Given the description of an element on the screen output the (x, y) to click on. 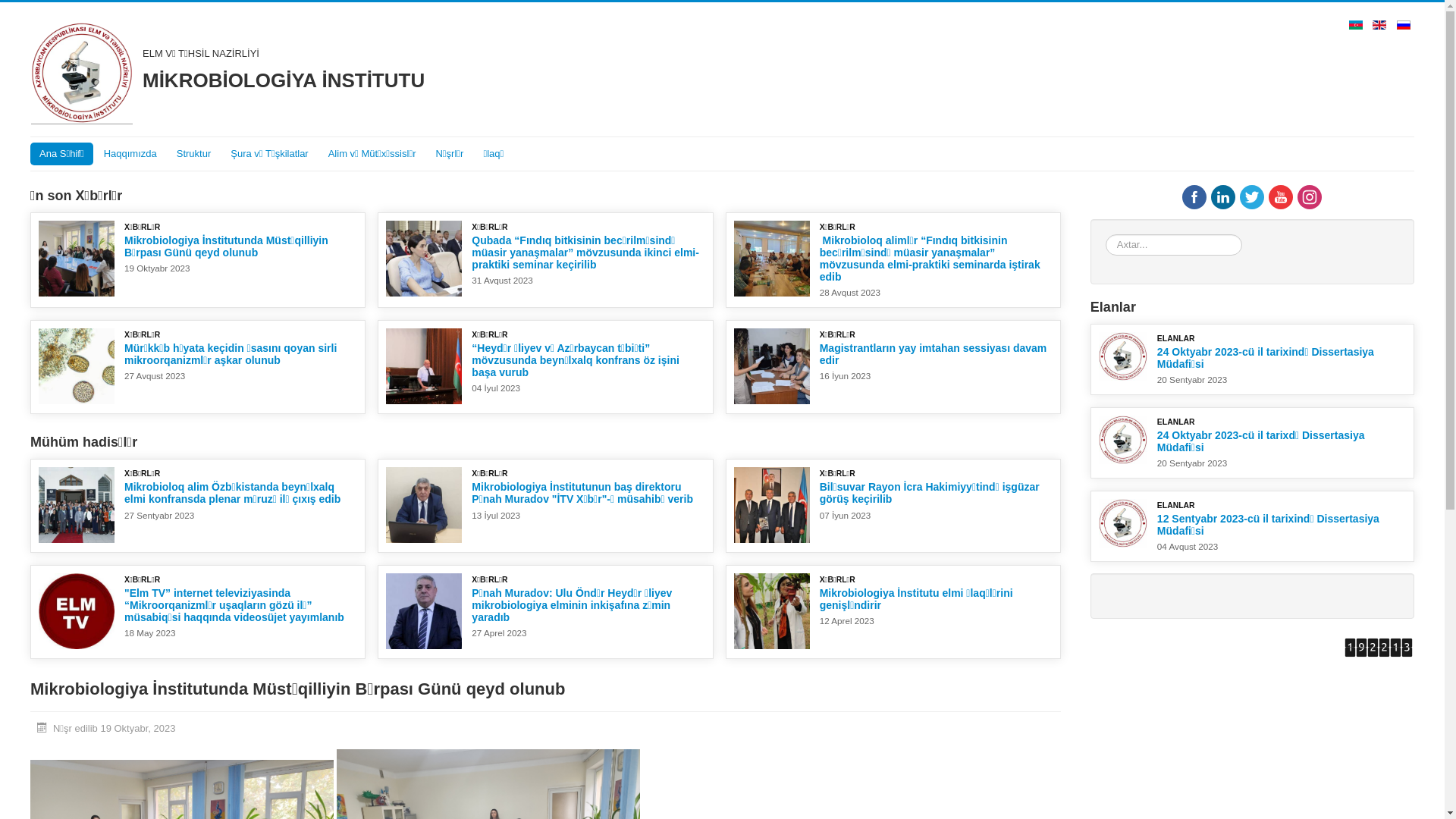
Follow us on Instagram Element type: hover (1309, 197)
Azerbaijan (az-AZ) Element type: hover (1355, 24)
Follow us on Linkedin Element type: hover (1223, 197)
English (United Kingdom) Element type: hover (1379, 24)
ELANLAR Element type: text (1176, 505)
ELANLAR Element type: text (1176, 338)
Follow us on Twitter Element type: hover (1251, 197)
Follow us on Youtube Element type: hover (1280, 197)
Follow us on Facebook Element type: hover (1194, 197)
ELANLAR Element type: text (1176, 421)
Struktur Element type: text (193, 153)
